Given the description of an element on the screen output the (x, y) to click on. 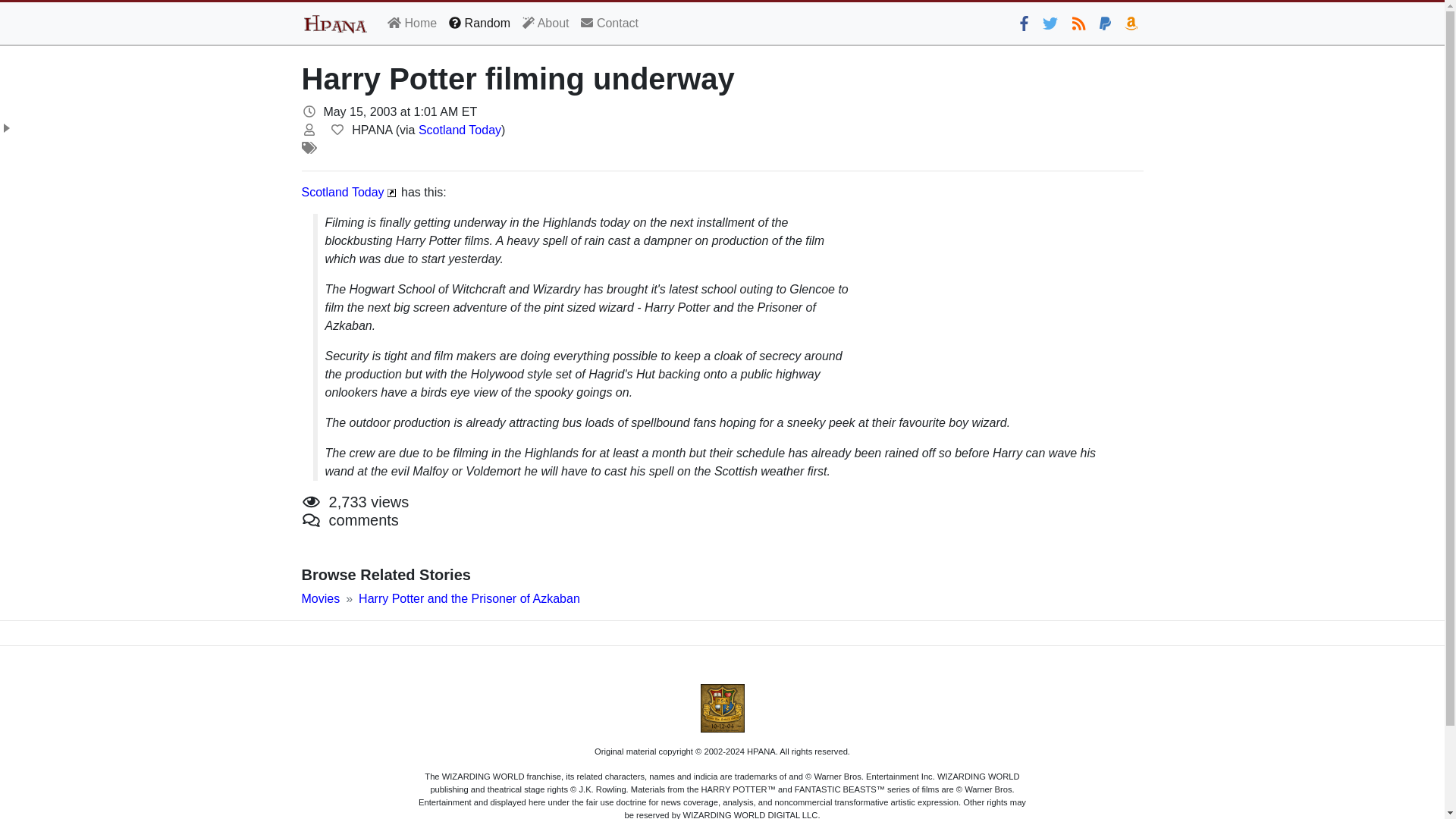
Movies (320, 598)
Scotland Today (342, 192)
Tags (309, 147)
Source (337, 129)
Random (479, 23)
Harry Potter and the Prisoner of Azkaban (468, 598)
Home (411, 23)
About (545, 23)
Tags (309, 147)
Published (309, 111)
HPANA is the recipient of J.K. Rowling's Fan Site Award (722, 707)
Author (309, 129)
Advertisement (1003, 289)
Scotland Today (459, 129)
Why couldn't it be 'follow the butterflies?!' (1050, 23)
